Given the description of an element on the screen output the (x, y) to click on. 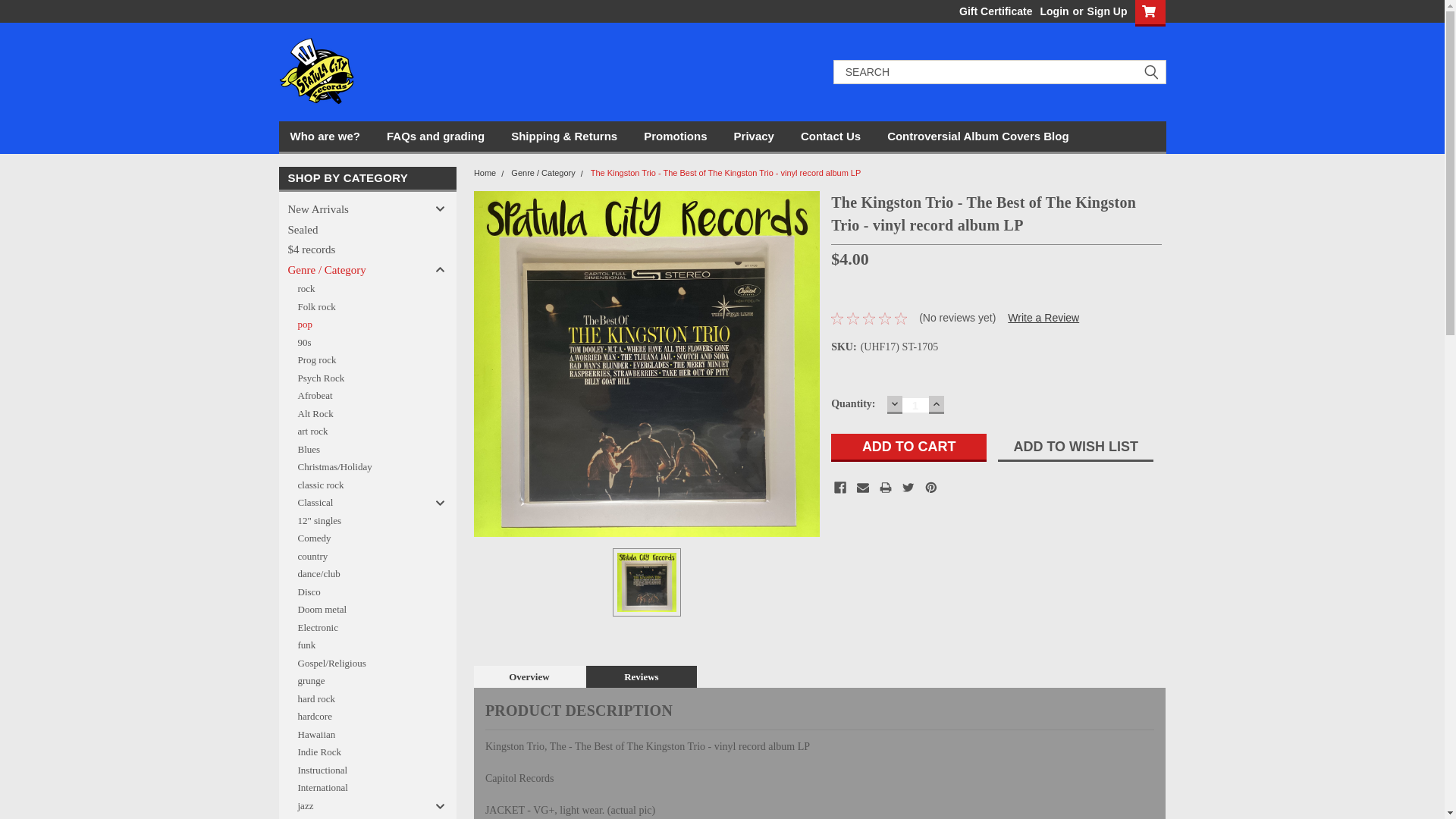
submit (1150, 71)
Email (863, 487)
Twitter (908, 487)
1 (915, 405)
Login (1054, 11)
Add to Cart (909, 447)
Print (885, 487)
Facebook (839, 487)
Sign Up (1104, 11)
Spatula City Records (317, 71)
Pinterest (930, 487)
Gift Certificate (992, 11)
